Given the description of an element on the screen output the (x, y) to click on. 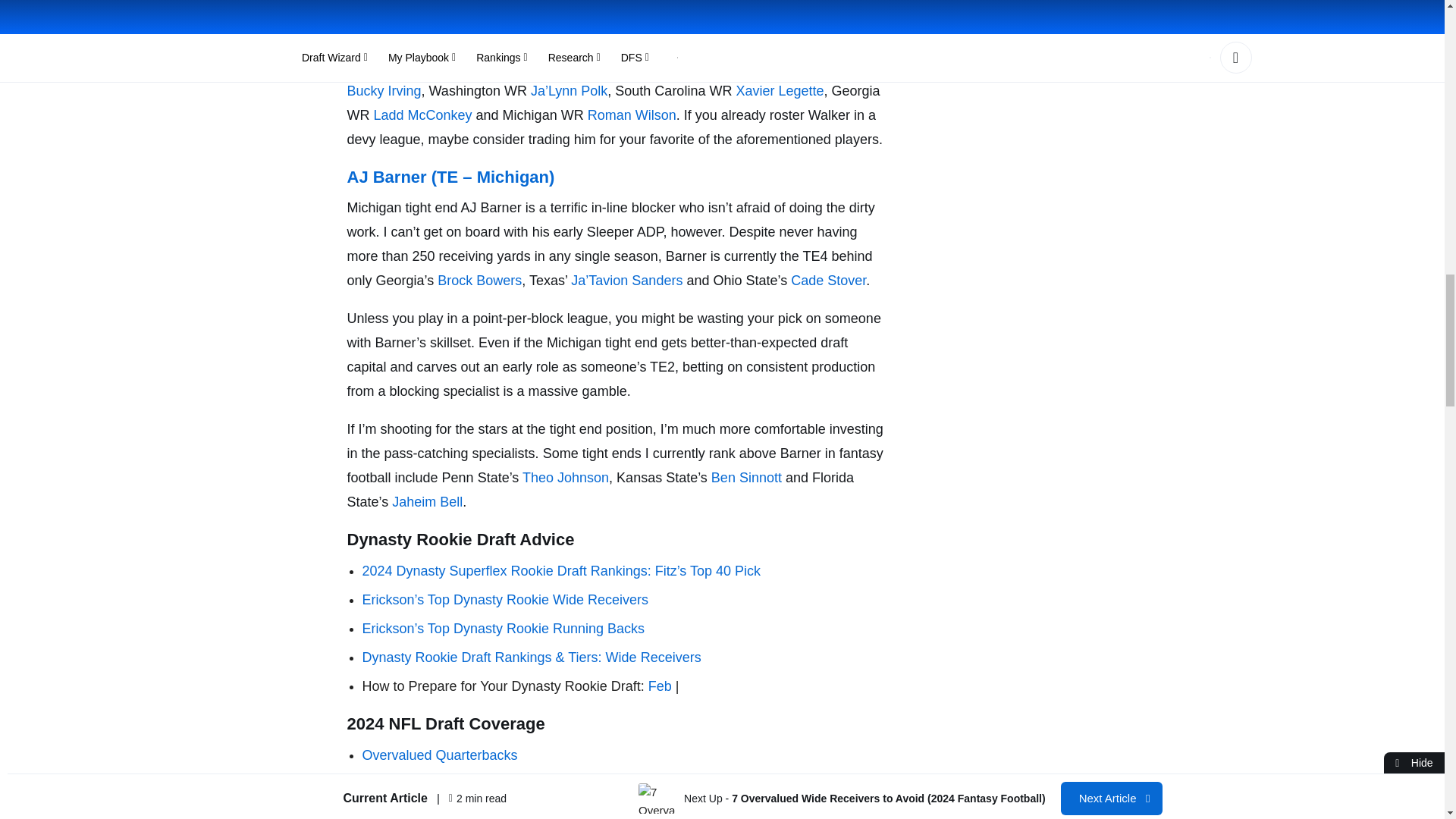
Theo Johnson (565, 477)
Feb (659, 685)
Ladd McConkey (421, 114)
Jaheim Bell (427, 501)
Xavier Legette (779, 90)
Bucky Irving (384, 90)
Roman Wilson (632, 114)
Brock Bowers (479, 280)
Ben Sinnott (748, 477)
Cade Stover (828, 280)
